Given the description of an element on the screen output the (x, y) to click on. 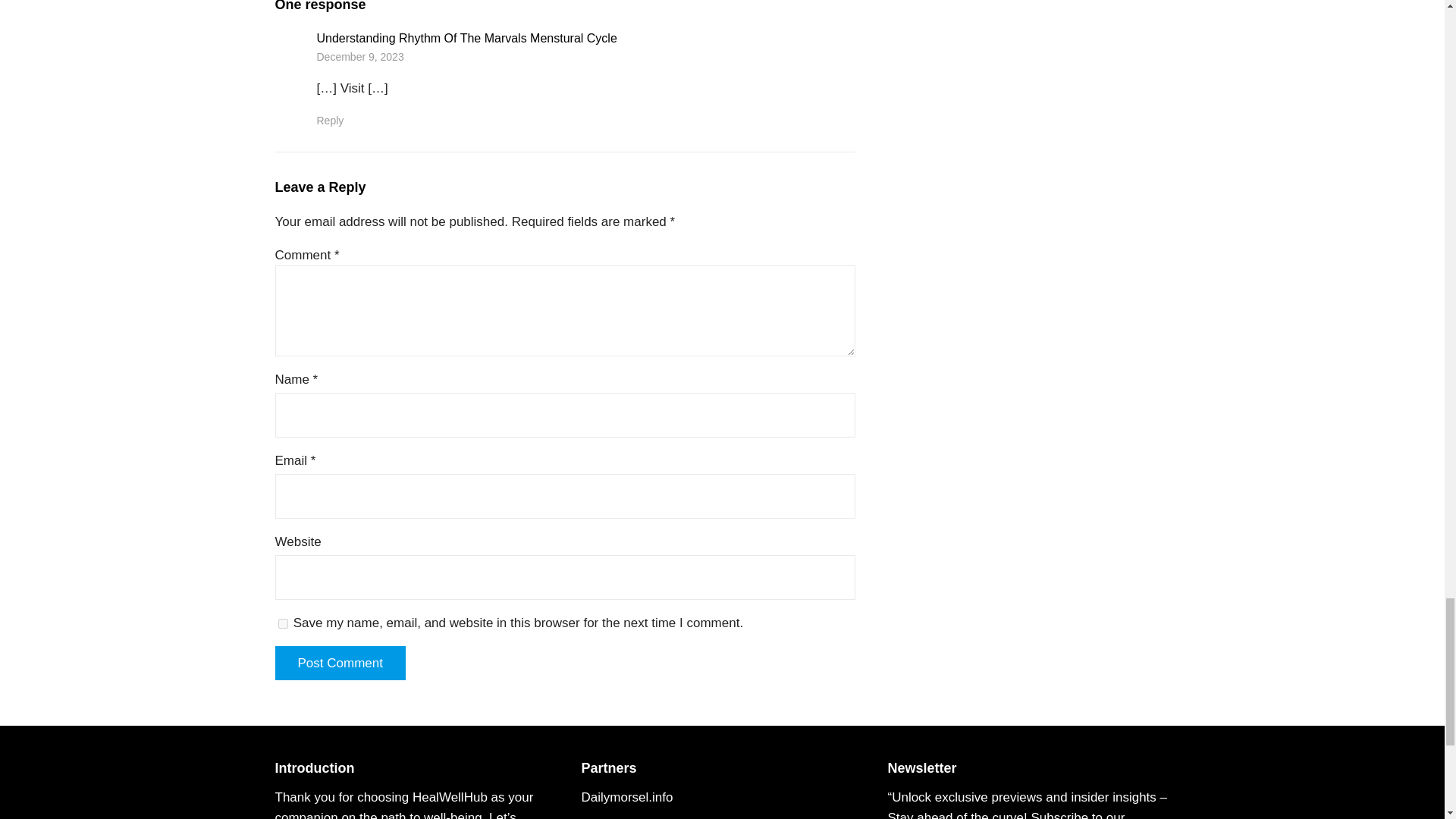
Post Comment (339, 663)
Post Comment (339, 663)
Reply (330, 120)
Understanding Rhythm Of The Marvals Menstural Cycle (467, 38)
December 9, 2023 (360, 56)
